Given the description of an element on the screen output the (x, y) to click on. 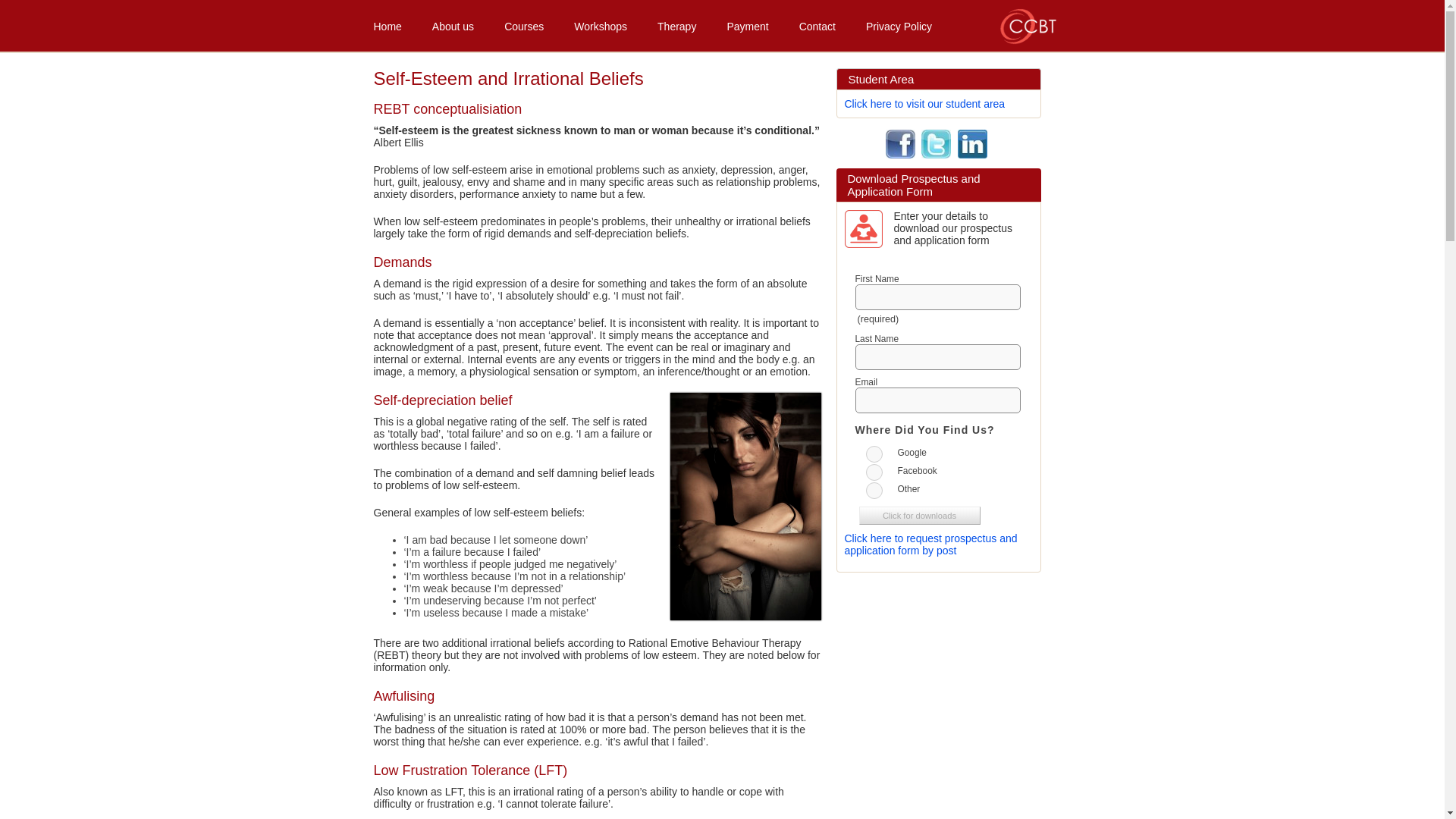
Other (874, 490)
Workshops (600, 24)
Facebook (874, 472)
Contact (817, 24)
About us (452, 24)
Payment (747, 24)
Therapy (676, 24)
Click for downloads (919, 515)
Click here to visit our student area (925, 103)
Privacy Policy (898, 24)
Courses (524, 24)
Google (874, 453)
Click for downloads (919, 515)
Home (387, 24)
